Given the description of an element on the screen output the (x, y) to click on. 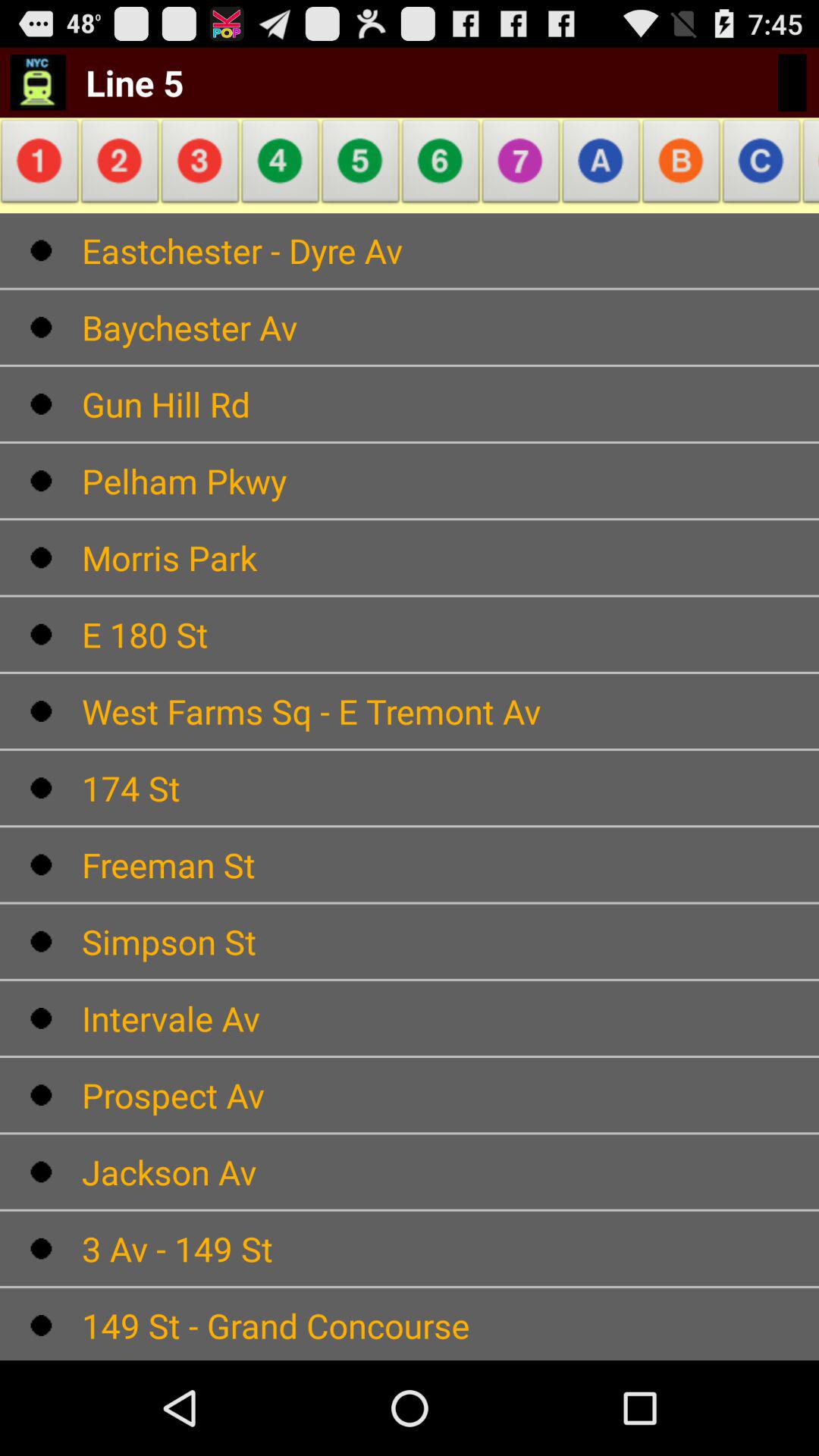
tap the icon above the eastchester - dyre av item (761, 165)
